Given the description of an element on the screen output the (x, y) to click on. 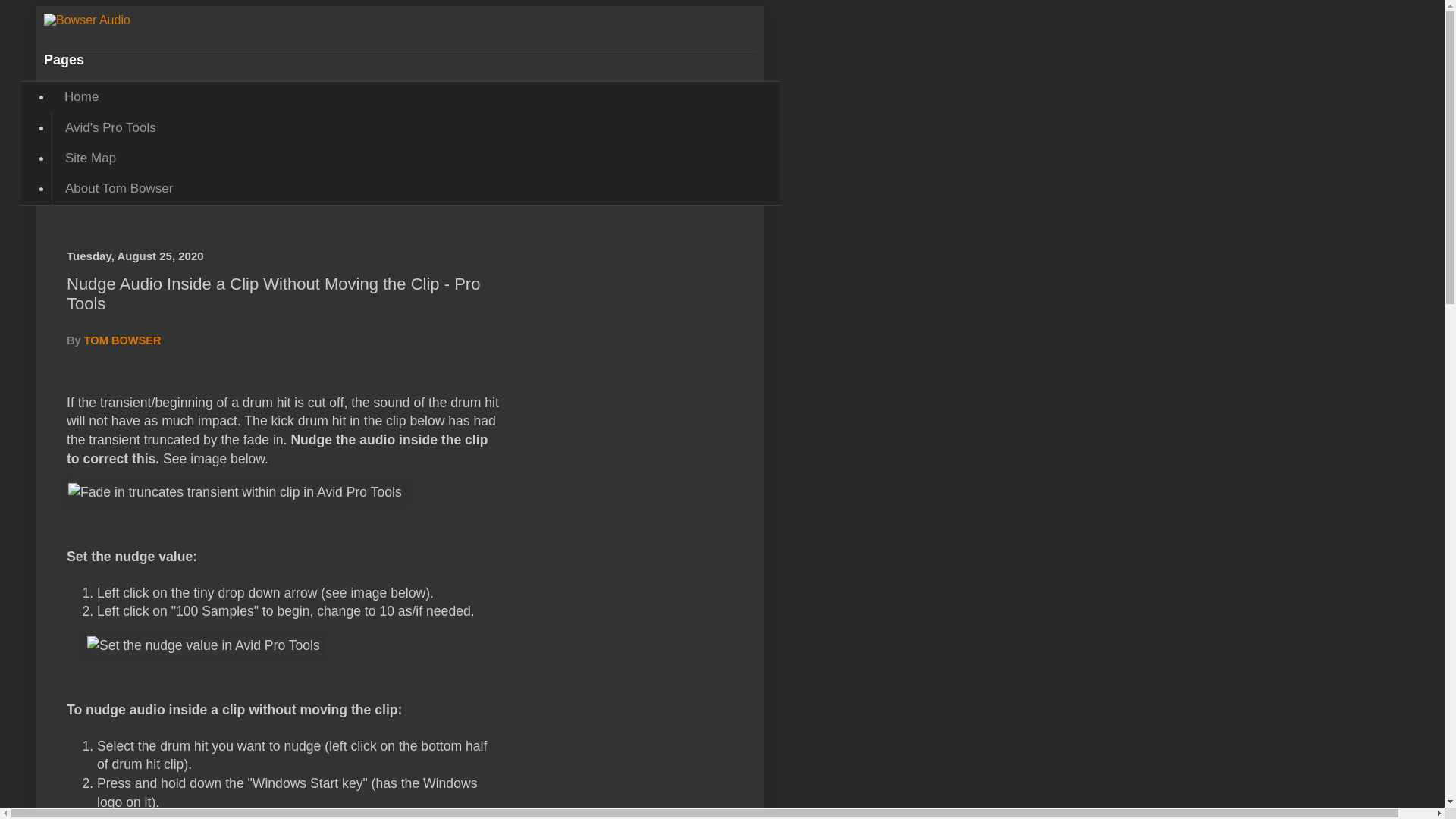
Avid's Pro Tools (109, 127)
Fade in truncates transient within clip in Avid Pro Tools  (234, 492)
TOM BOWSER (122, 340)
About Tom Bowser (118, 188)
Set the nudge value in Avid Pro Tools (203, 645)
Site Map (89, 158)
Home (81, 96)
